Given the description of an element on the screen output the (x, y) to click on. 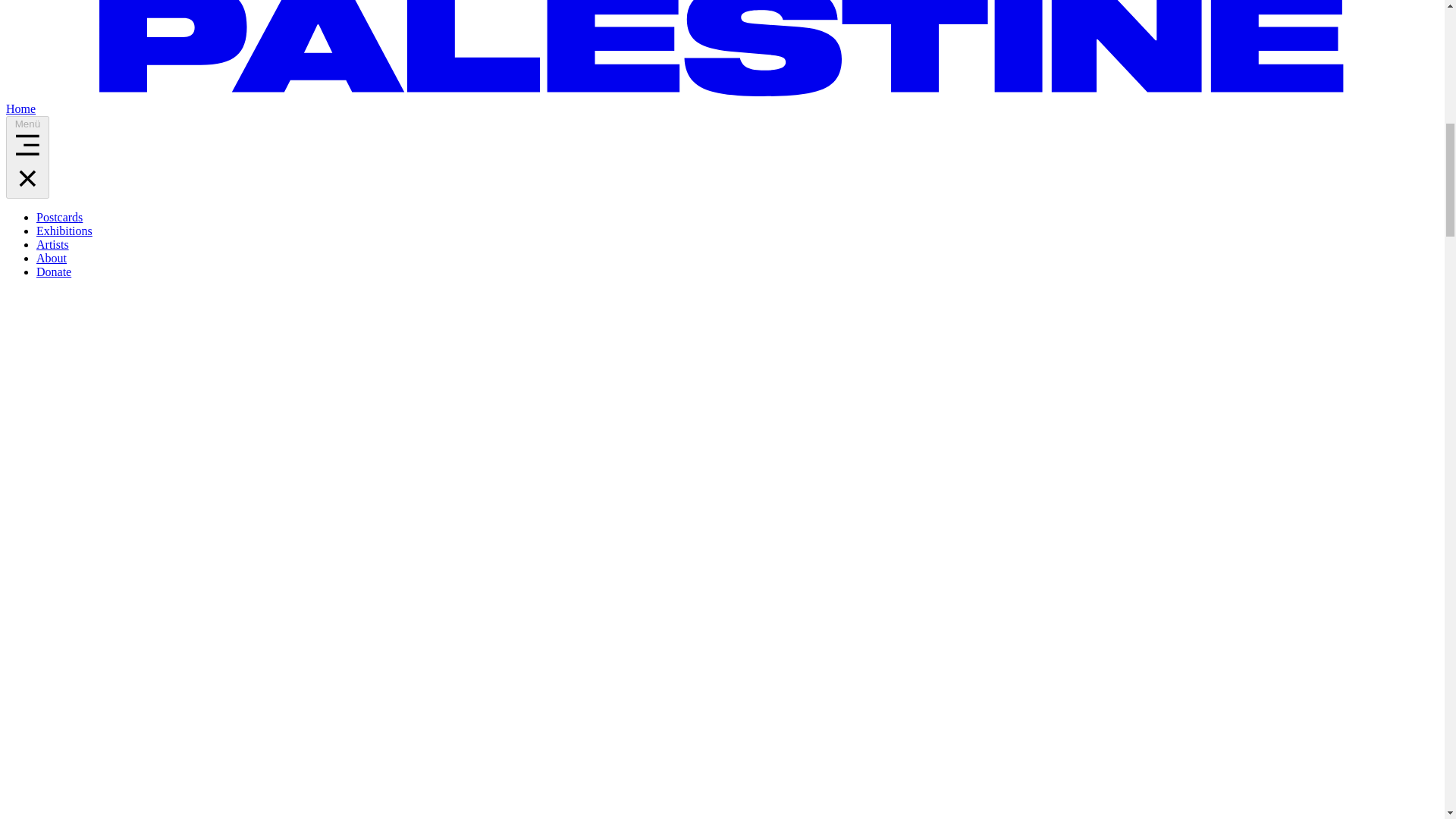
Exhibitions (64, 230)
About (51, 257)
Postcards (59, 216)
Artists (52, 244)
Donate (53, 271)
